Given the description of an element on the screen output the (x, y) to click on. 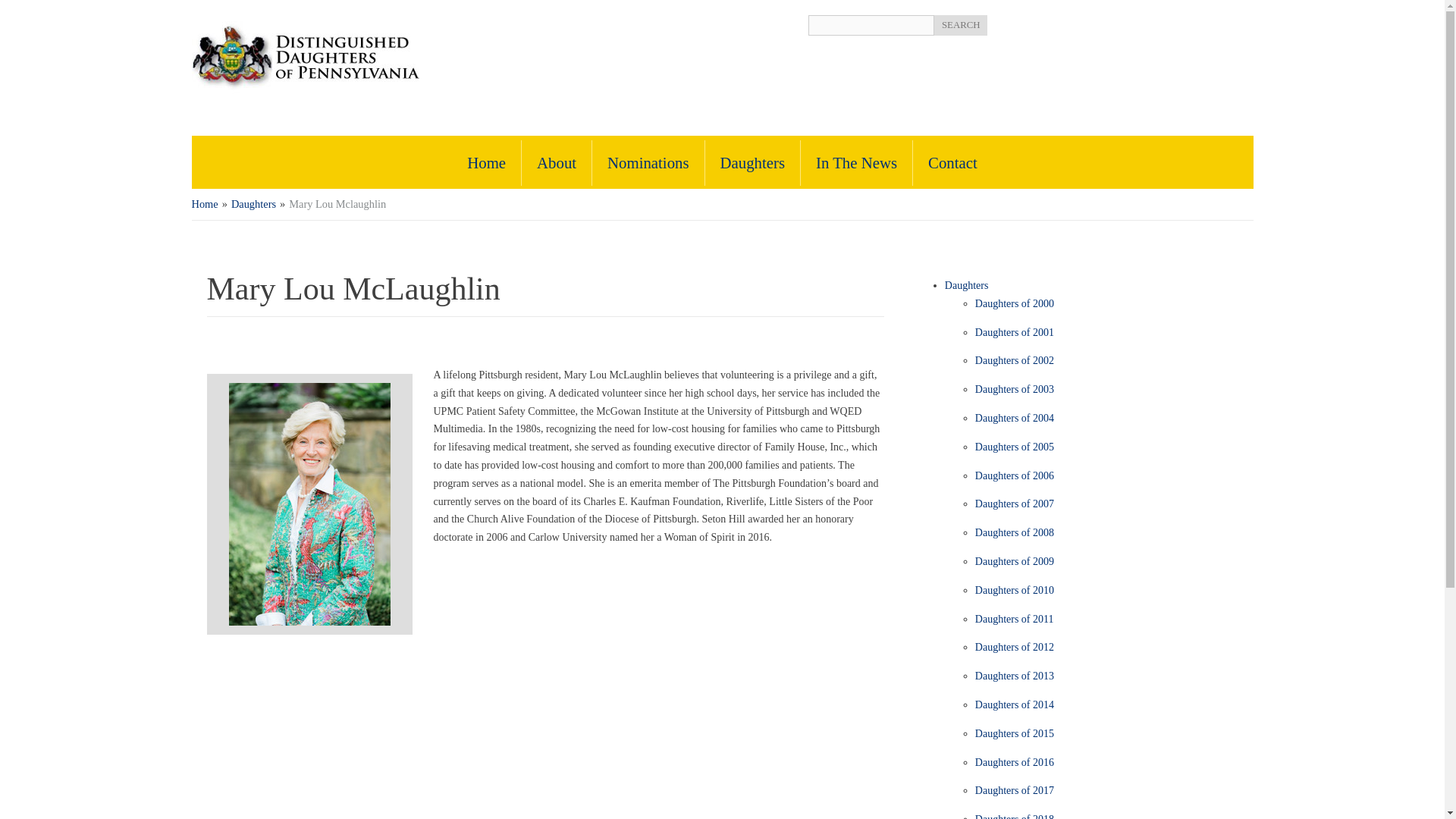
Daughters of 2000 (1014, 303)
Daughters (751, 162)
Daughters of 2004 (1014, 418)
Daughters of 2011 (1014, 618)
Daughters (253, 203)
Daughters of 2015 (1014, 733)
Daughters (966, 285)
Contact (952, 162)
search (961, 25)
Nominations (647, 162)
